Given the description of an element on the screen output the (x, y) to click on. 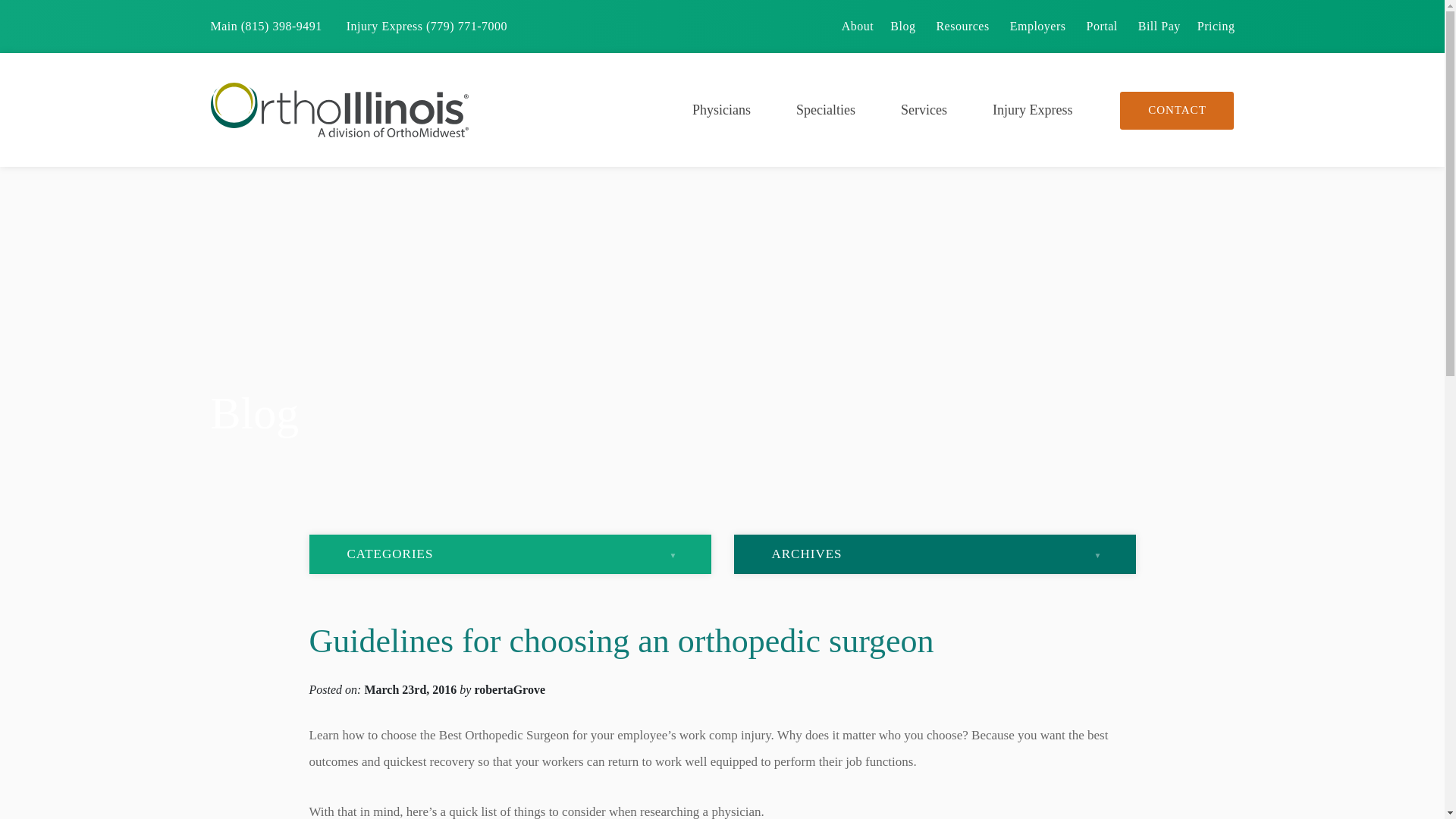
Blog (902, 26)
Pricing (1216, 26)
Bill Pay (1159, 26)
Services (923, 109)
Physicians (721, 109)
Employers (1037, 26)
Portal (1101, 25)
About (857, 26)
Injury Express (1031, 109)
Specialties (825, 109)
